Given the description of an element on the screen output the (x, y) to click on. 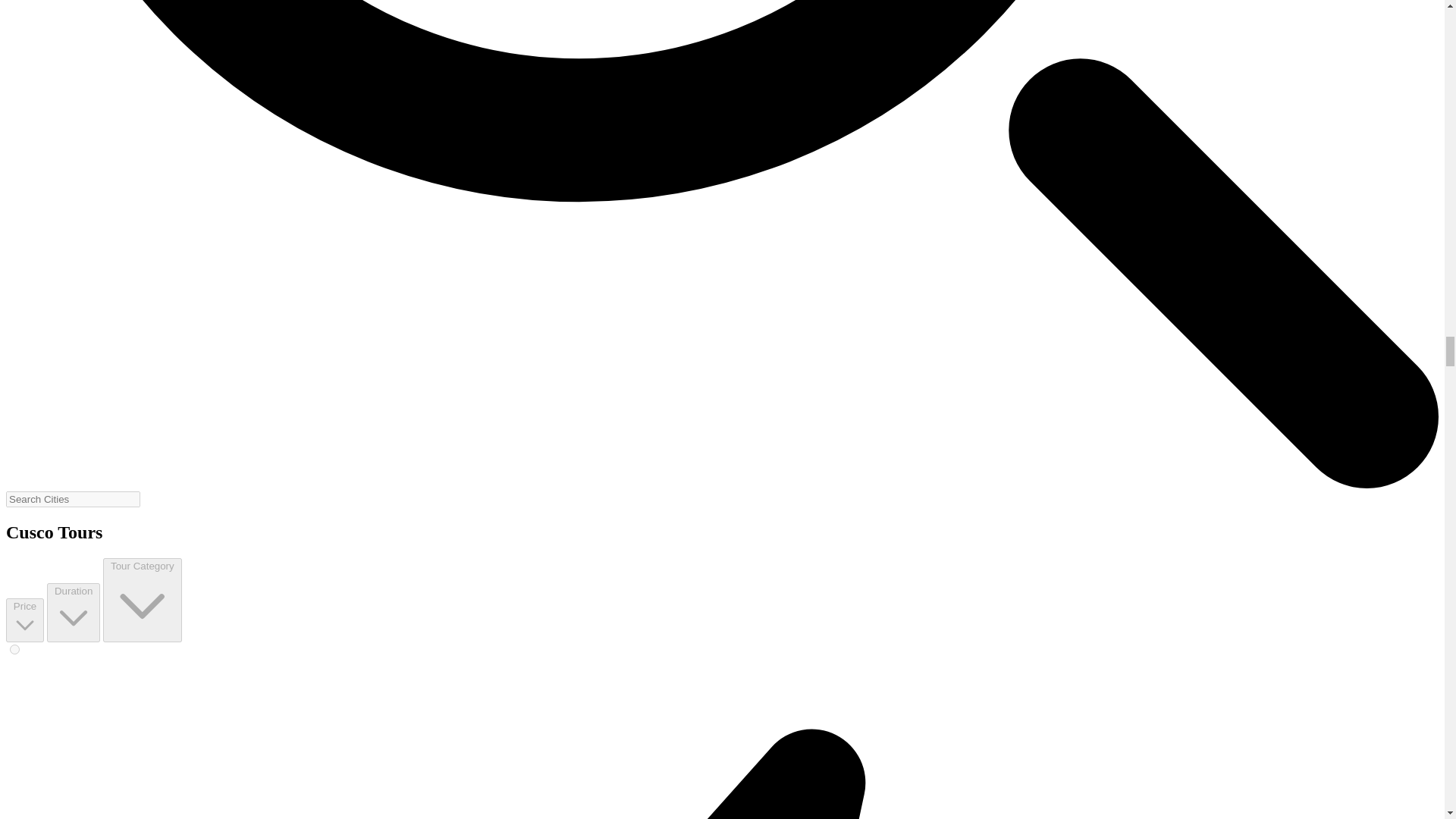
Duration (73, 612)
Tour Category (141, 599)
1 (15, 649)
